Given the description of an element on the screen output the (x, y) to click on. 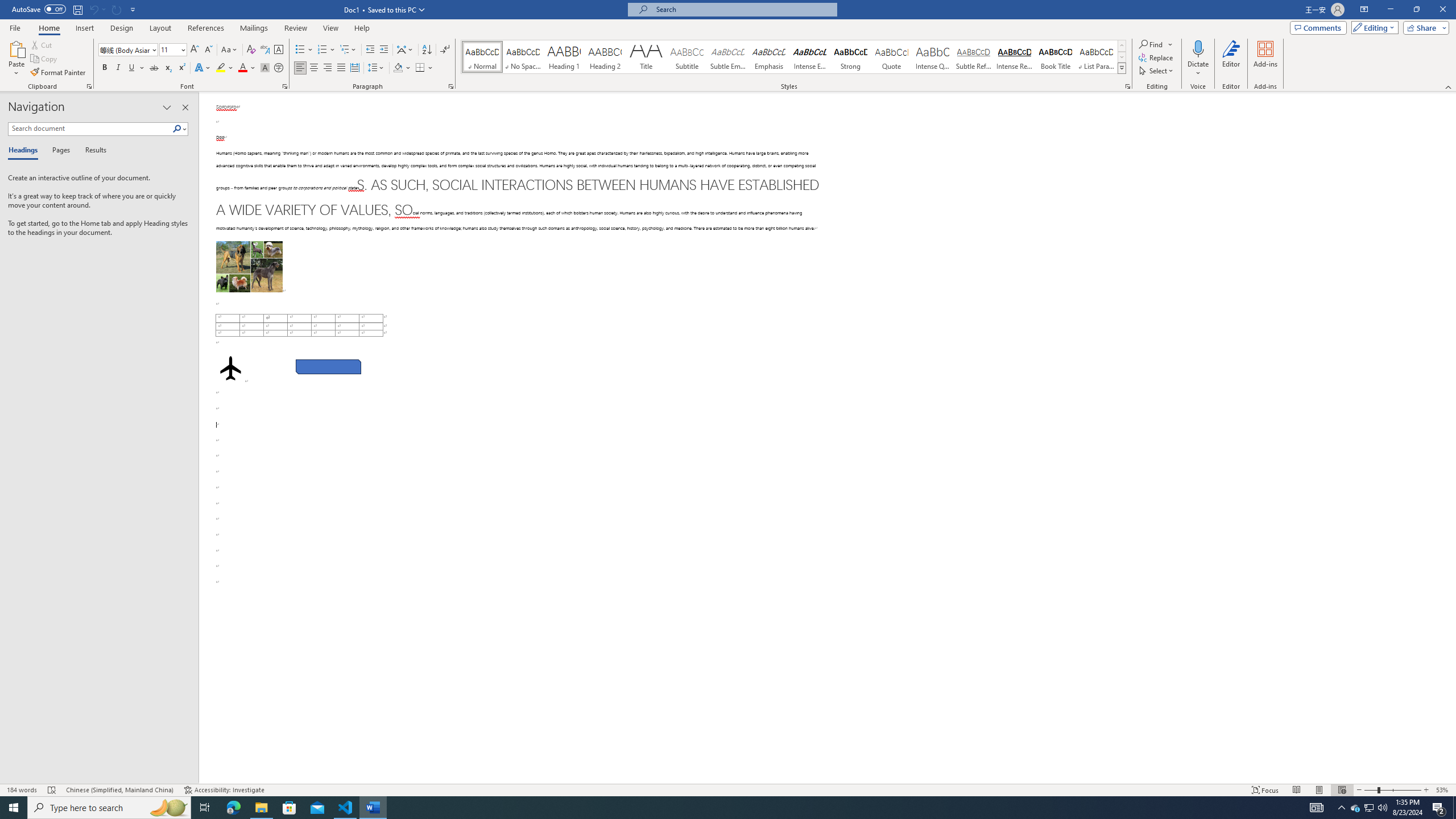
Font Color Red (241, 67)
Zoom 53% (1443, 790)
Rectangle: Diagonal Corners Snipped 2 (328, 366)
